Given the description of an element on the screen output the (x, y) to click on. 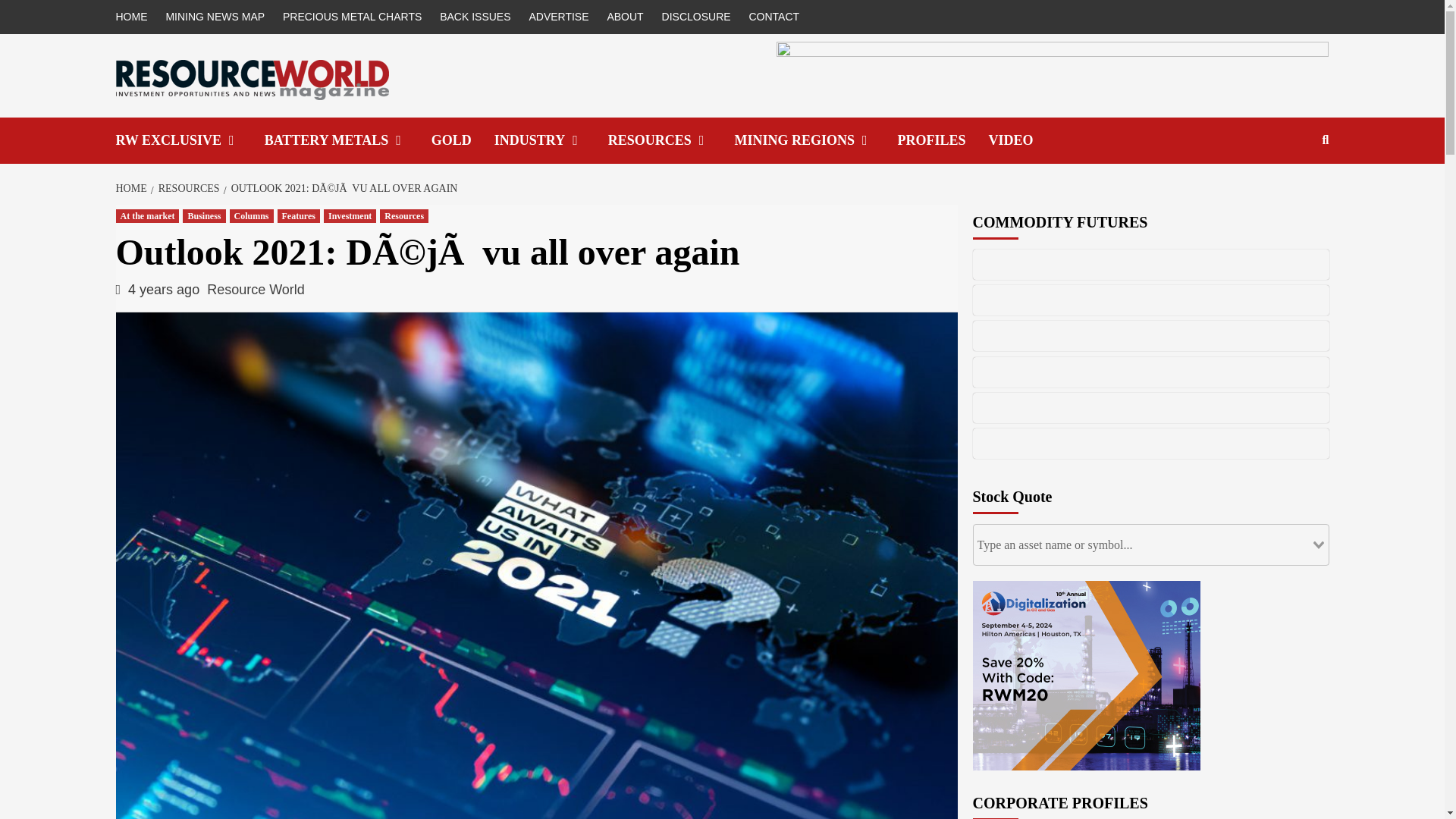
DISCLOSURE (695, 17)
HOME (134, 17)
CONTACT (773, 17)
NEW!! (1022, 140)
PRECIOUS METAL CHARTS (352, 17)
BATTERY METALS (347, 140)
ADVERTISE (558, 17)
RW EXCLUSIVE (189, 140)
GOLD (462, 140)
BACK ISSUES (475, 17)
RESOURCES (671, 140)
ABOUT (624, 17)
Original Editorial by Resource World. (189, 140)
INDUSTRY (551, 140)
MINING NEWS MAP (214, 17)
